Given the description of an element on the screen output the (x, y) to click on. 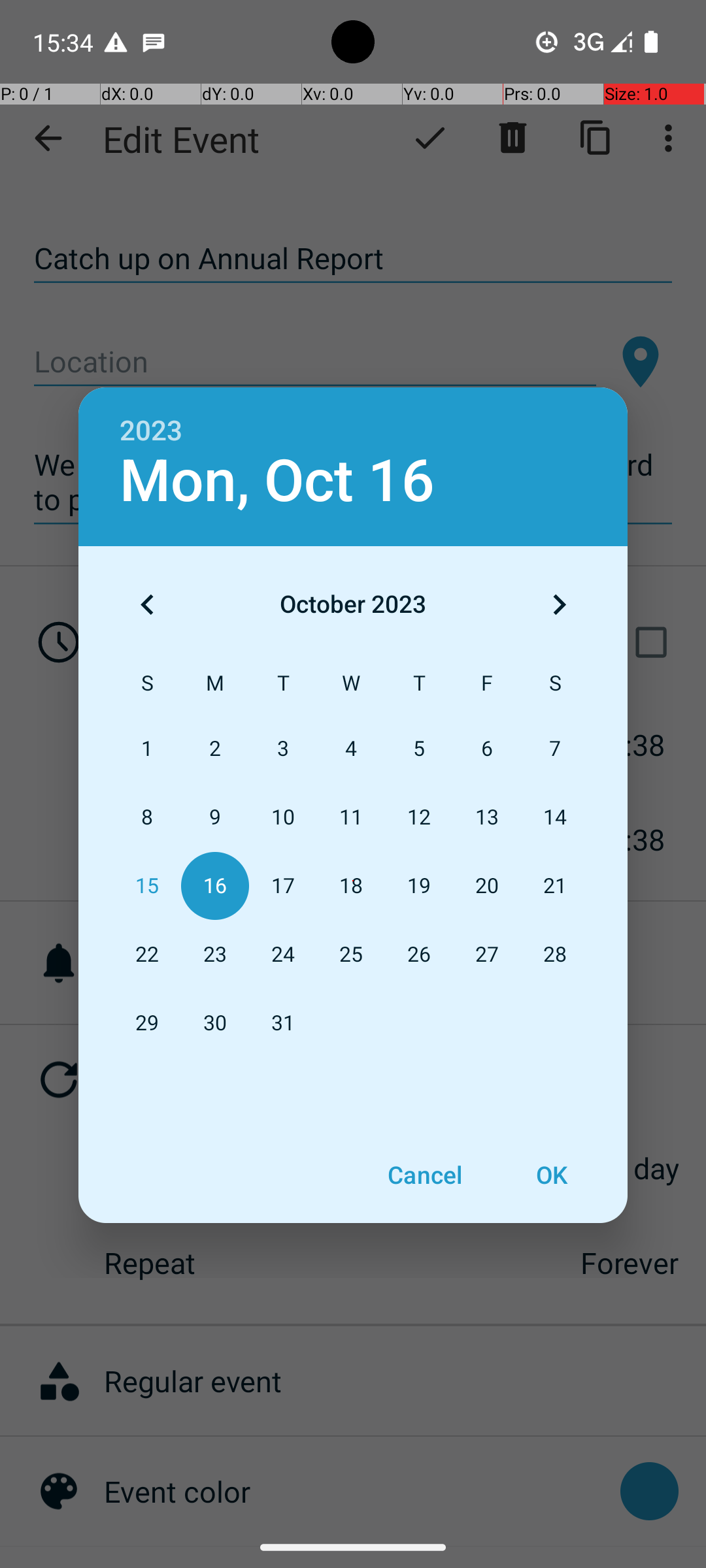
Mon, Oct 16 Element type: android.widget.TextView (276, 480)
